Given the description of an element on the screen output the (x, y) to click on. 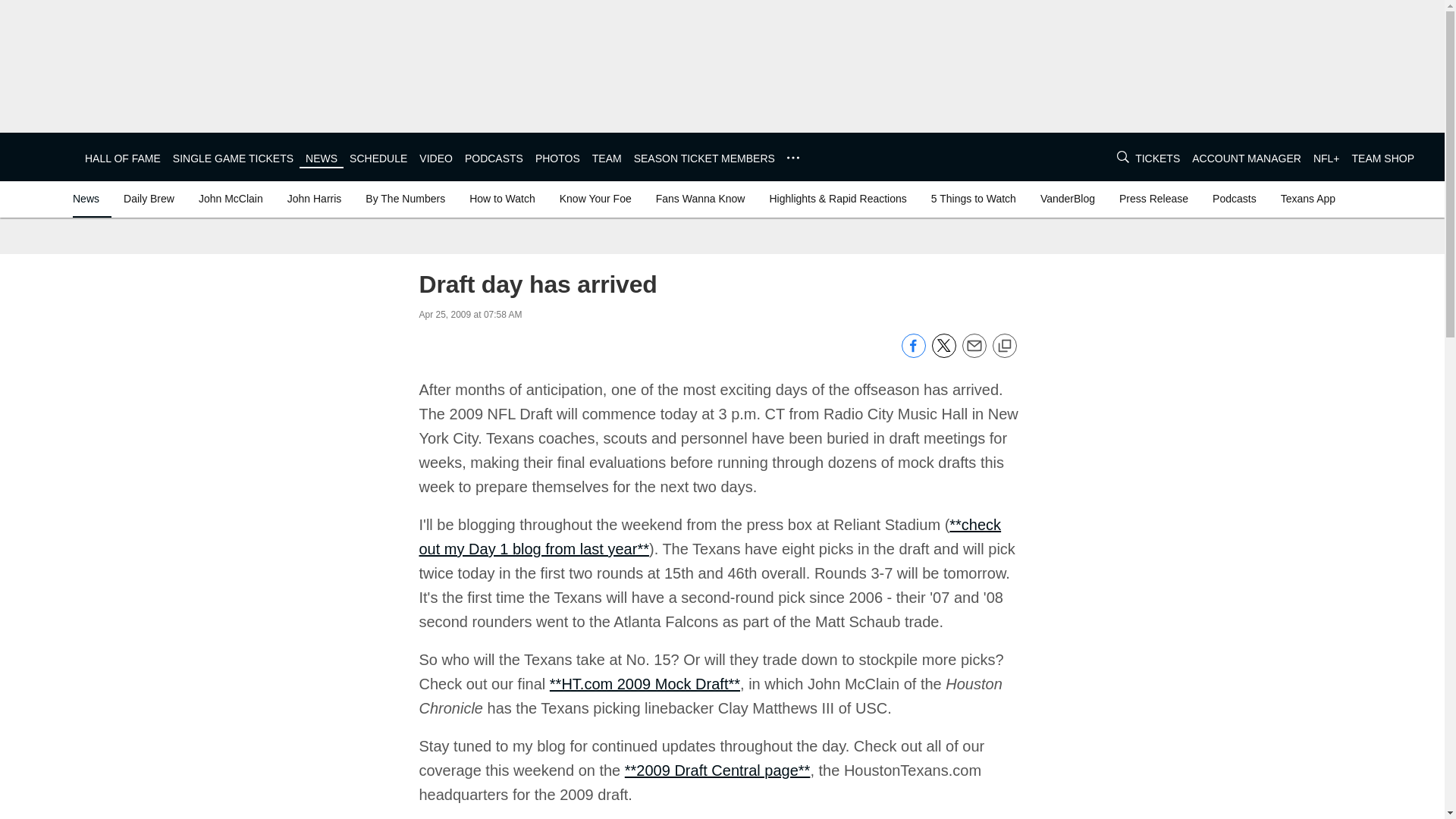
News (88, 198)
PHOTOS (557, 158)
NEWS (321, 158)
By The Numbers (405, 198)
PODCASTS (493, 158)
SINGLE GAME TICKETS (233, 158)
PODCASTS (493, 158)
HALL OF FAME (122, 158)
PHOTOS (557, 158)
ACCOUNT MANAGER (1246, 158)
John Harris (314, 198)
TEAM (606, 158)
SEASON TICKET MEMBERS (703, 158)
5 Things to Watch (973, 198)
SEASON TICKET MEMBERS (703, 158)
